Given the description of an element on the screen output the (x, y) to click on. 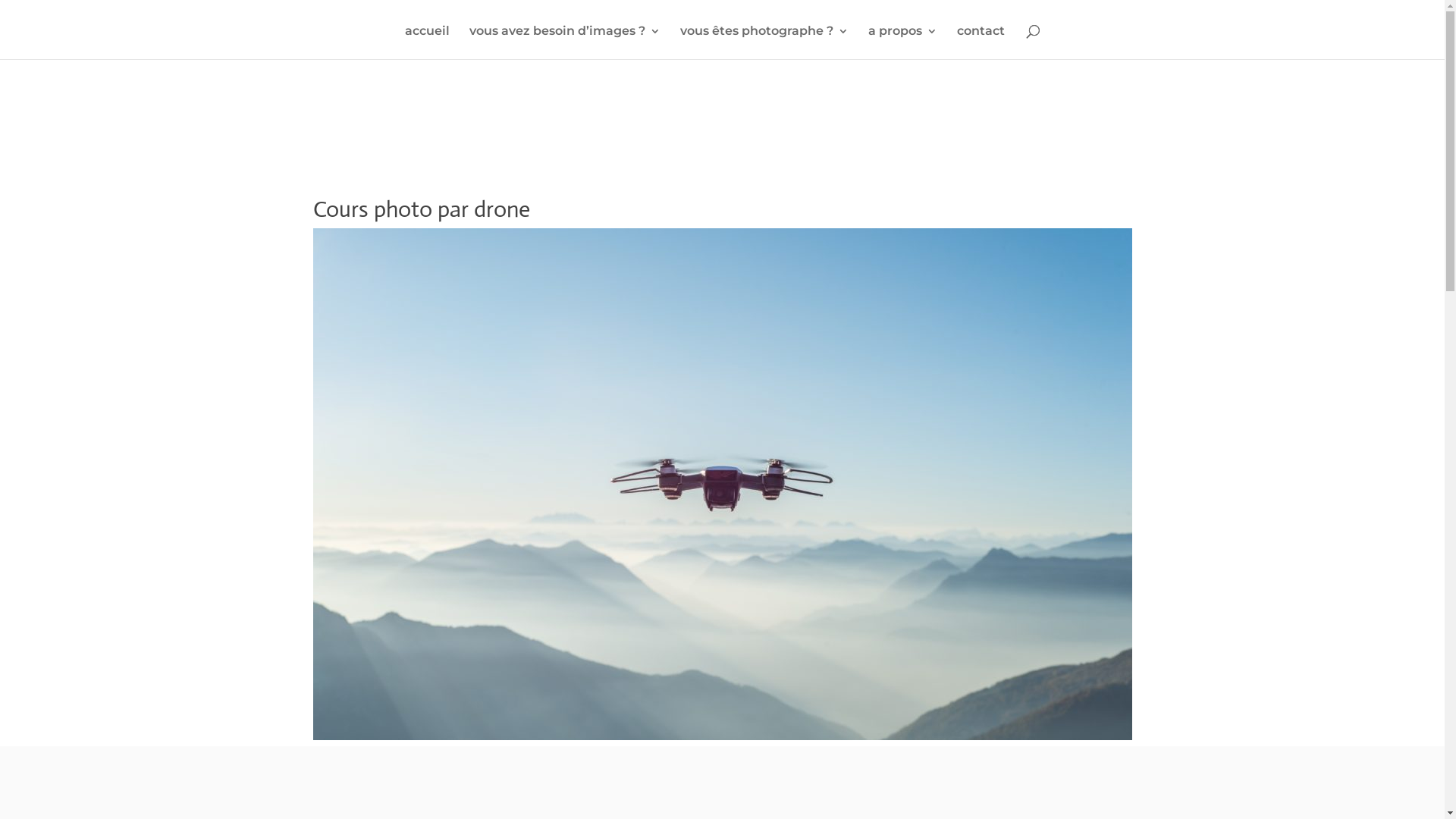
a propos Element type: text (902, 42)
contact Element type: text (980, 42)
accueil Element type: text (426, 42)
